Given the description of an element on the screen output the (x, y) to click on. 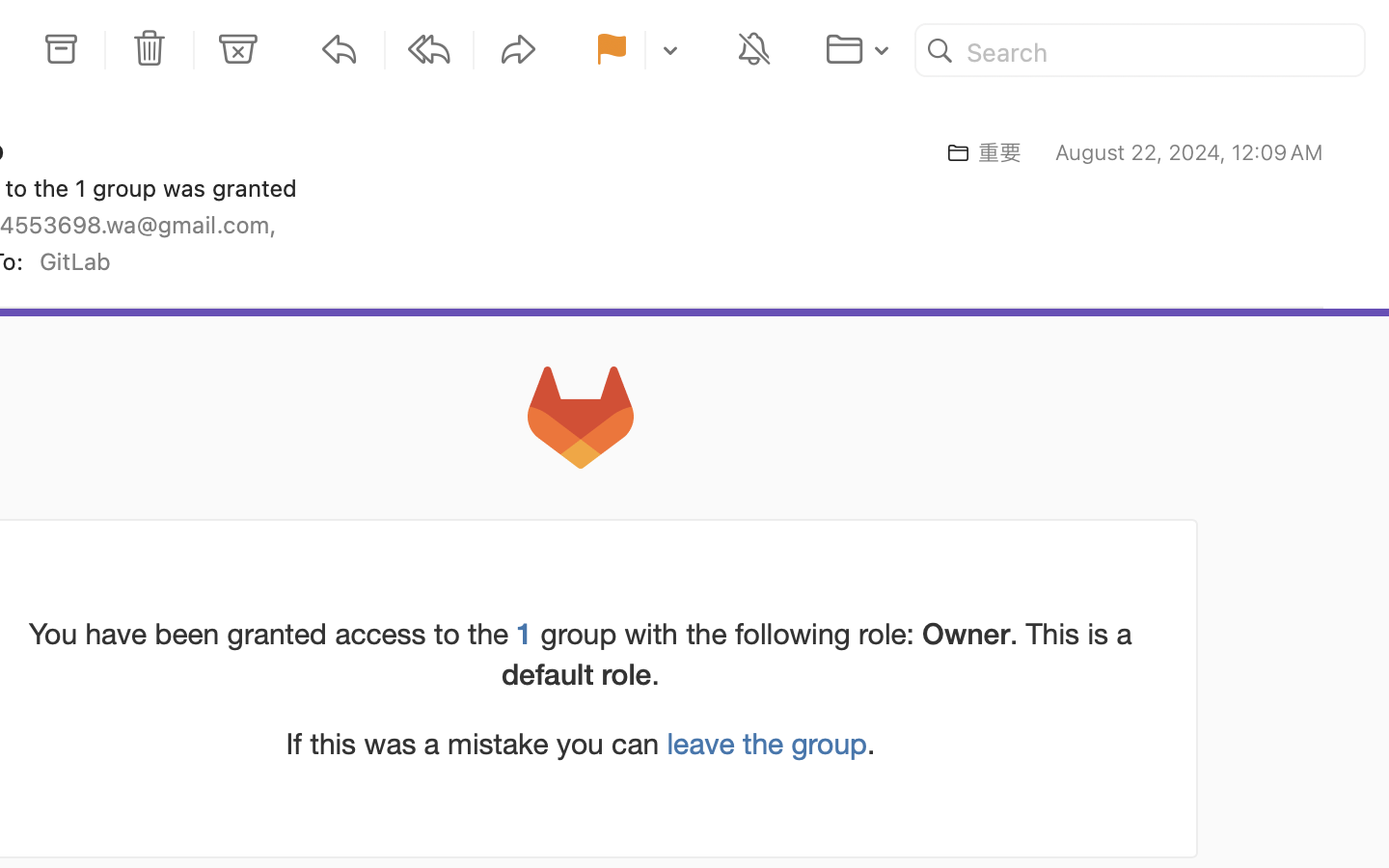
GitLab Element type: AXStaticText (82, 261)
